Given the description of an element on the screen output the (x, y) to click on. 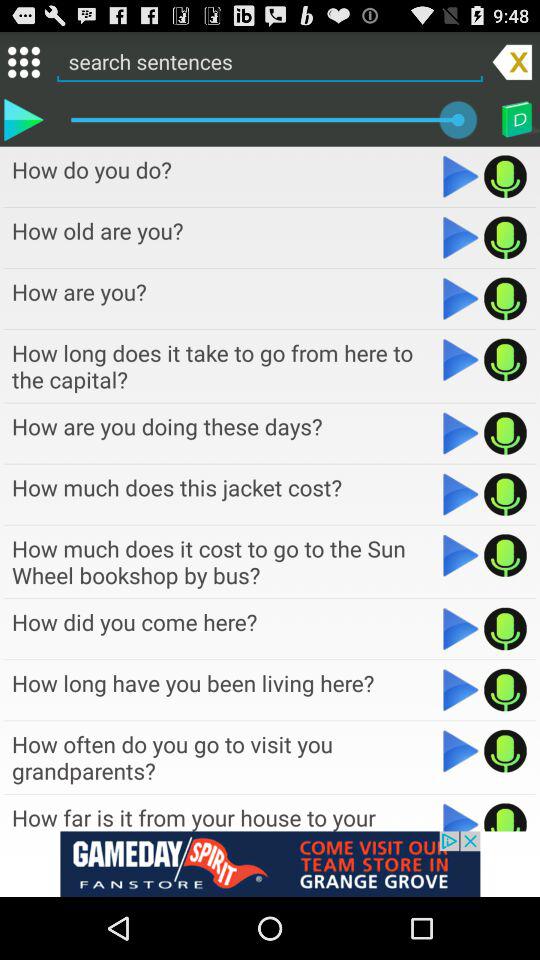
play (460, 751)
